Given the description of an element on the screen output the (x, y) to click on. 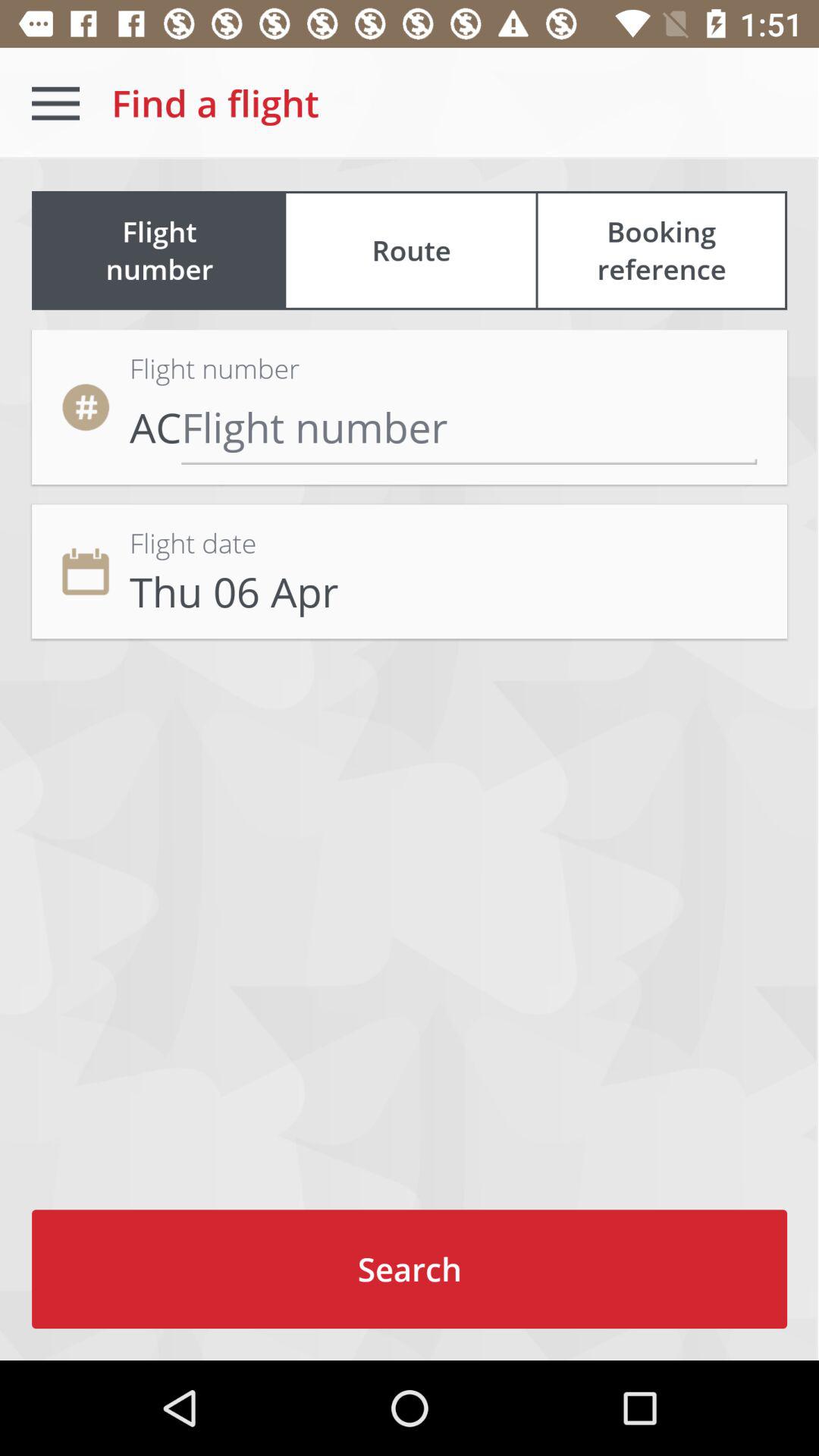
flight number input area (469, 426)
